Given the description of an element on the screen output the (x, y) to click on. 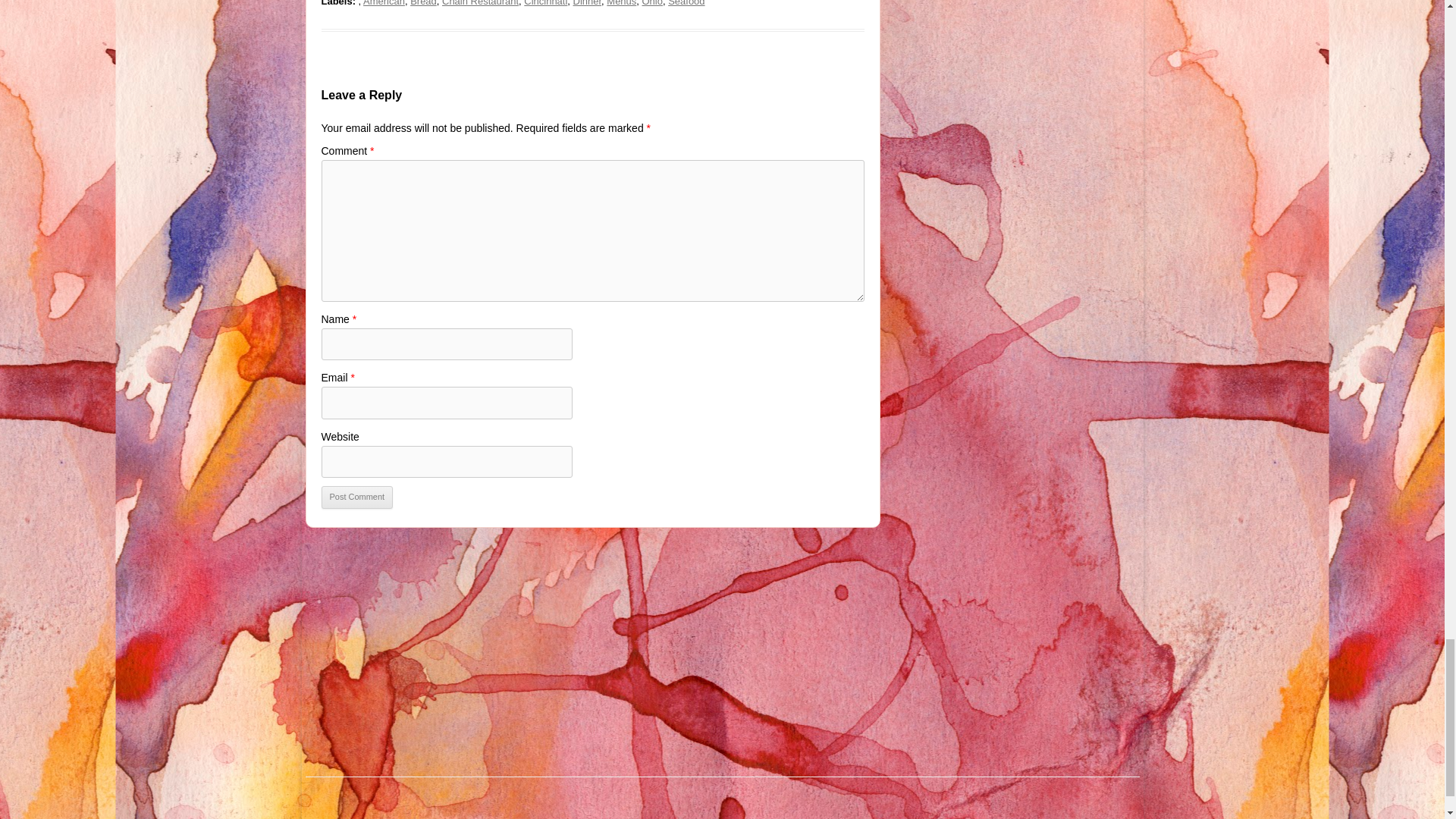
Chain Restaurant (480, 3)
Post Comment (357, 497)
Cincinnati (545, 3)
Dinner (587, 3)
Bread (423, 3)
Seafood (686, 3)
Post Comment (357, 497)
American (383, 3)
Ohio (652, 3)
Menus (621, 3)
